Given the description of an element on the screen output the (x, y) to click on. 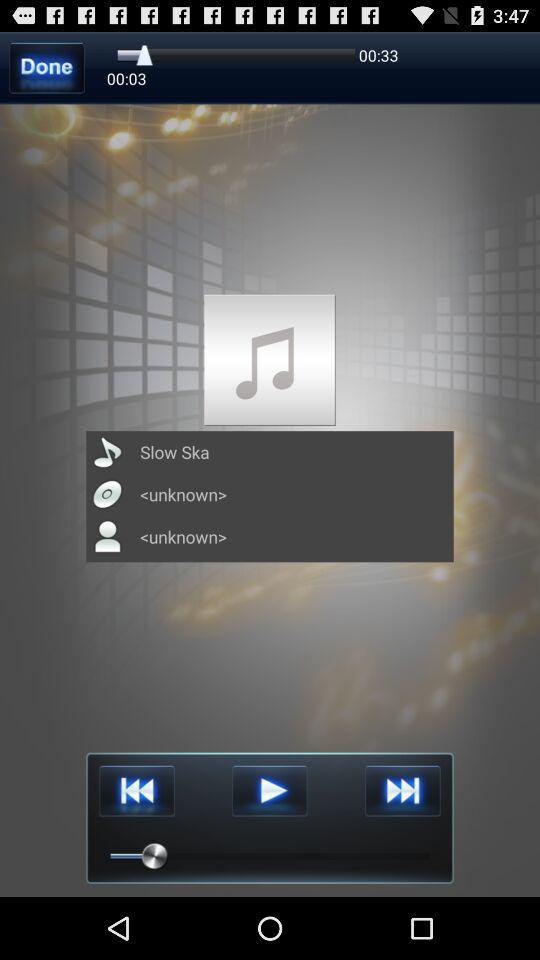
done (46, 67)
